Given the description of an element on the screen output the (x, y) to click on. 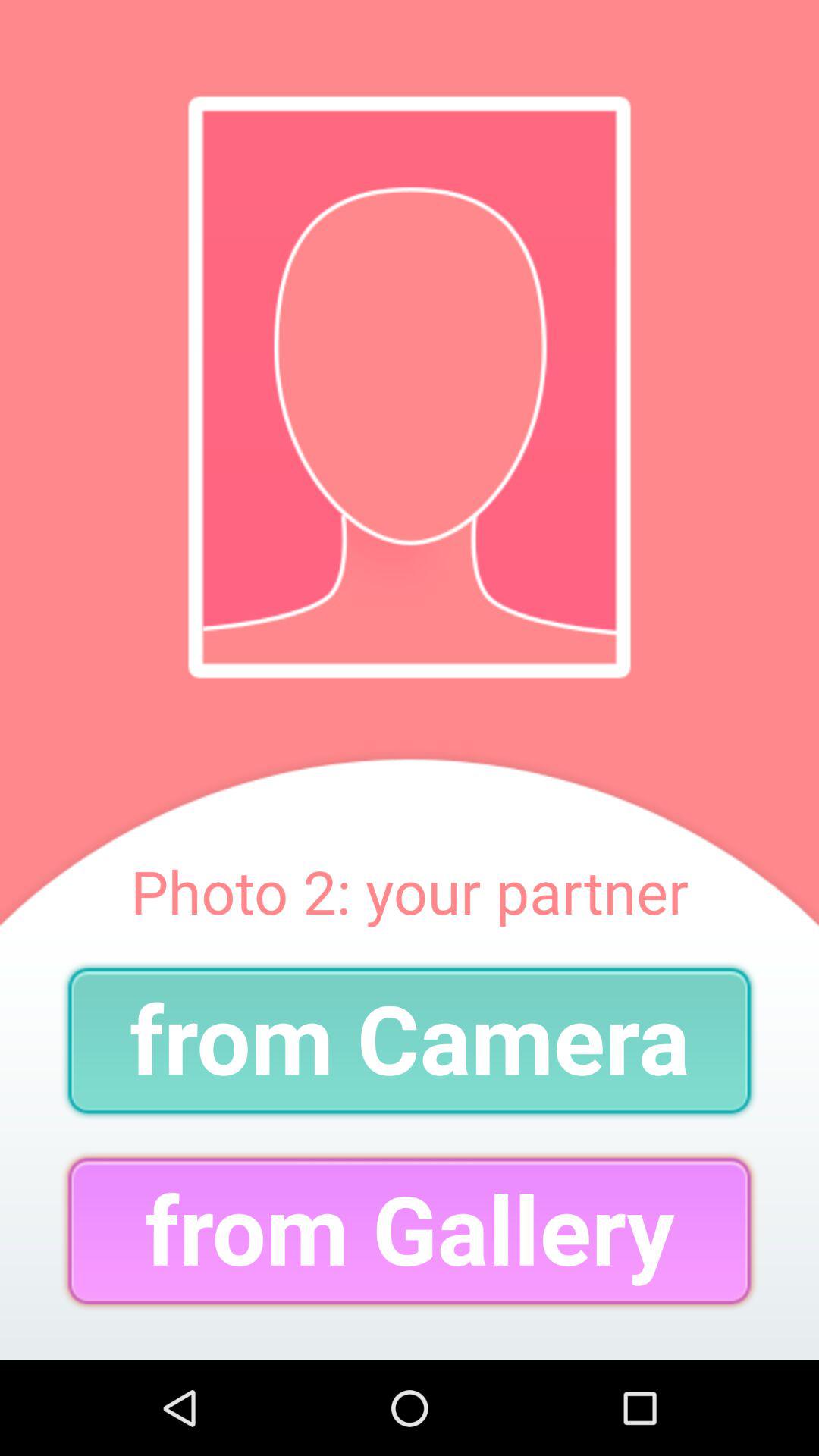
turn off the from gallery item (409, 1230)
